Given the description of an element on the screen output the (x, y) to click on. 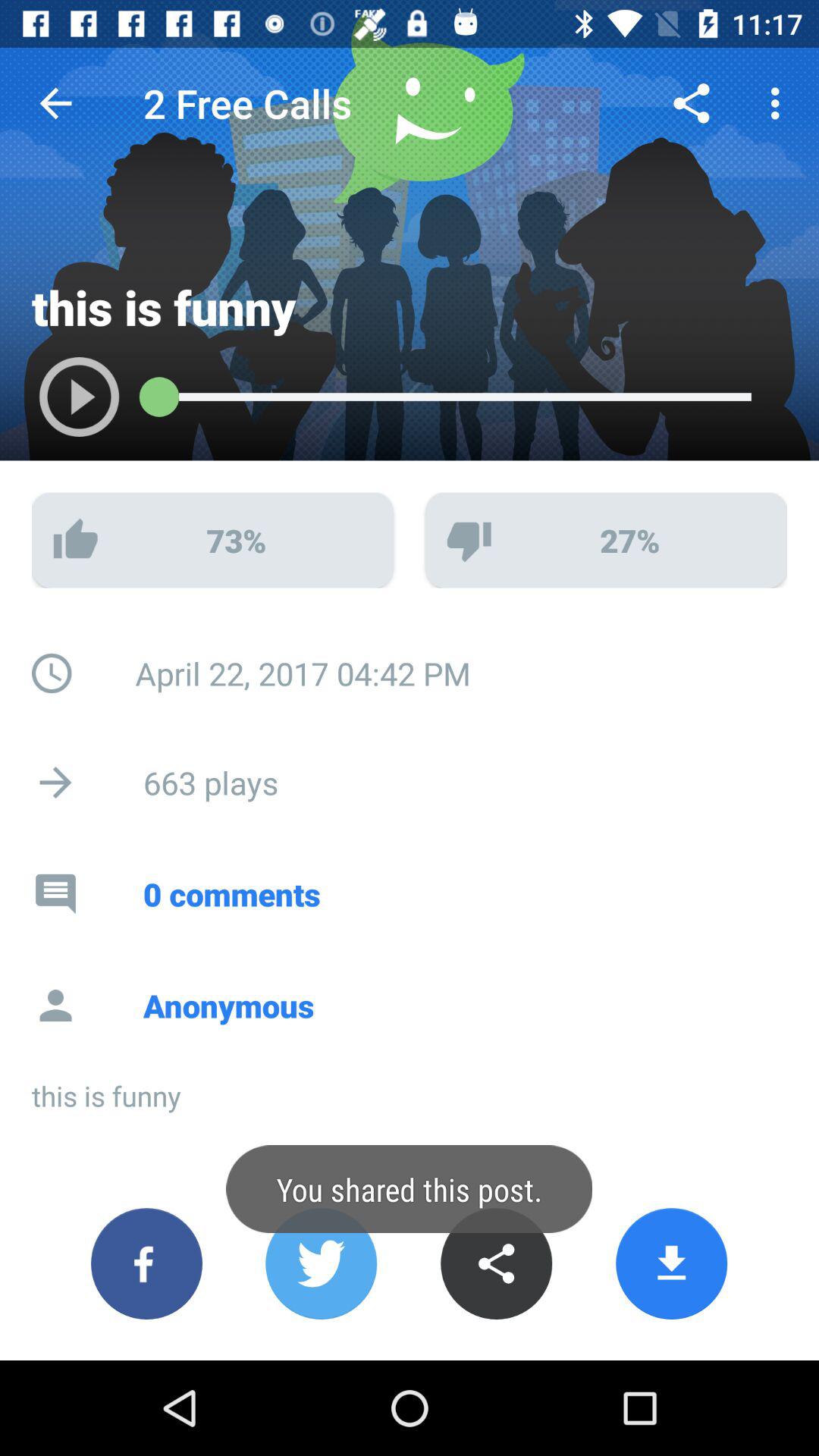
twitter page (321, 1263)
